Given the description of an element on the screen output the (x, y) to click on. 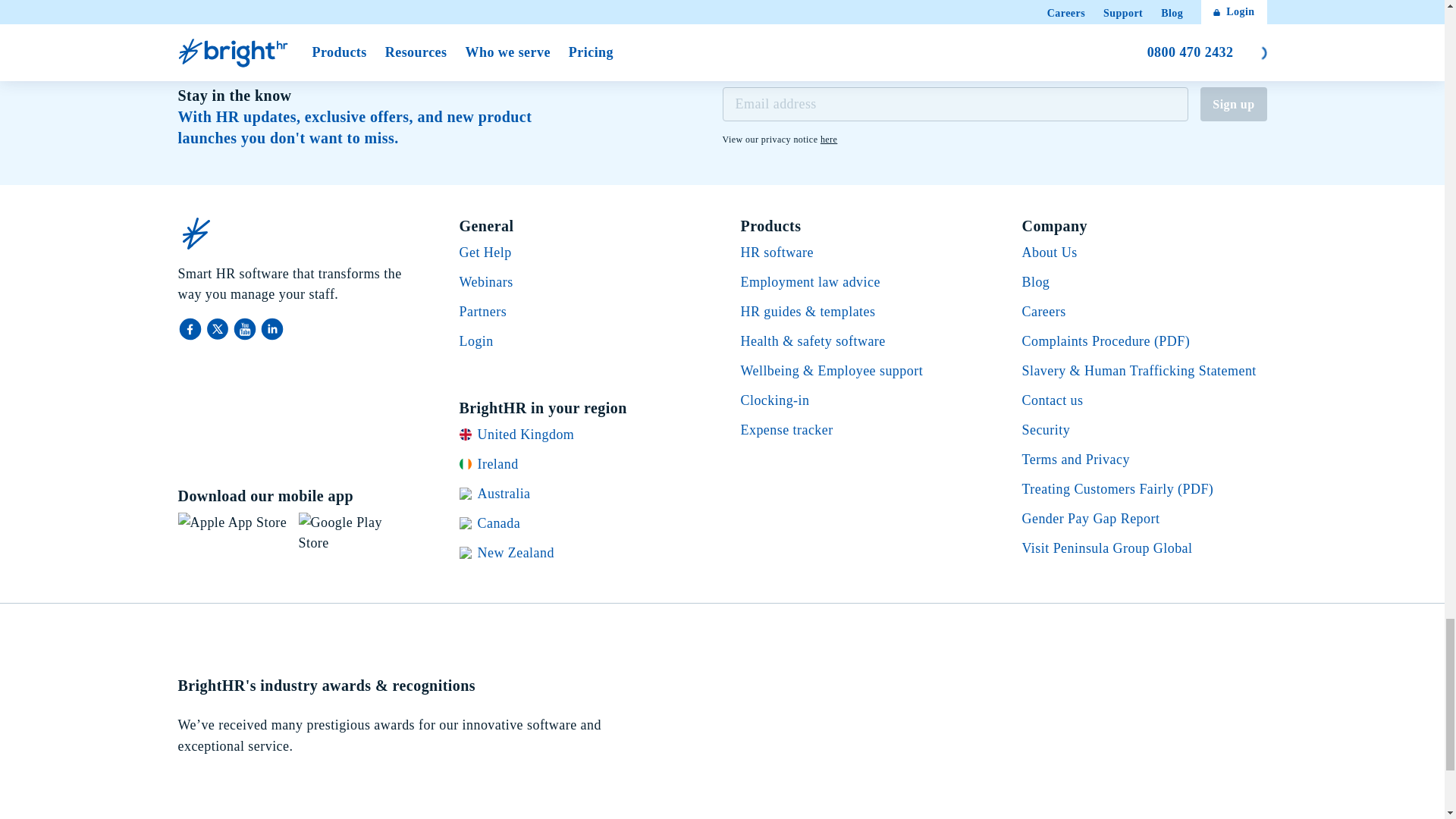
Twitter (218, 328)
Youtube (245, 328)
Get Help (486, 252)
LinkedIn (271, 328)
Sign up (1232, 103)
Partners (829, 139)
Facebook (483, 311)
Webinars (191, 328)
